Given the description of an element on the screen output the (x, y) to click on. 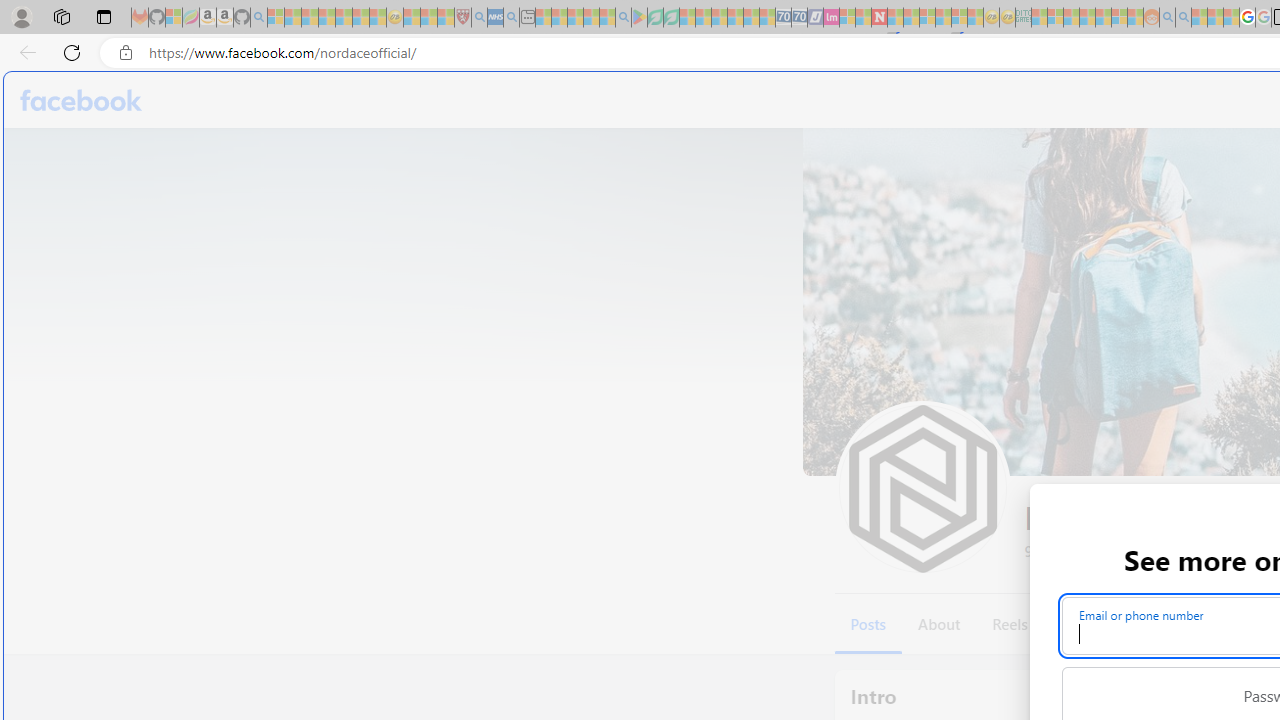
Bluey: Let's Play! - Apps on Google Play - Sleeping (639, 17)
